Given the description of an element on the screen output the (x, y) to click on. 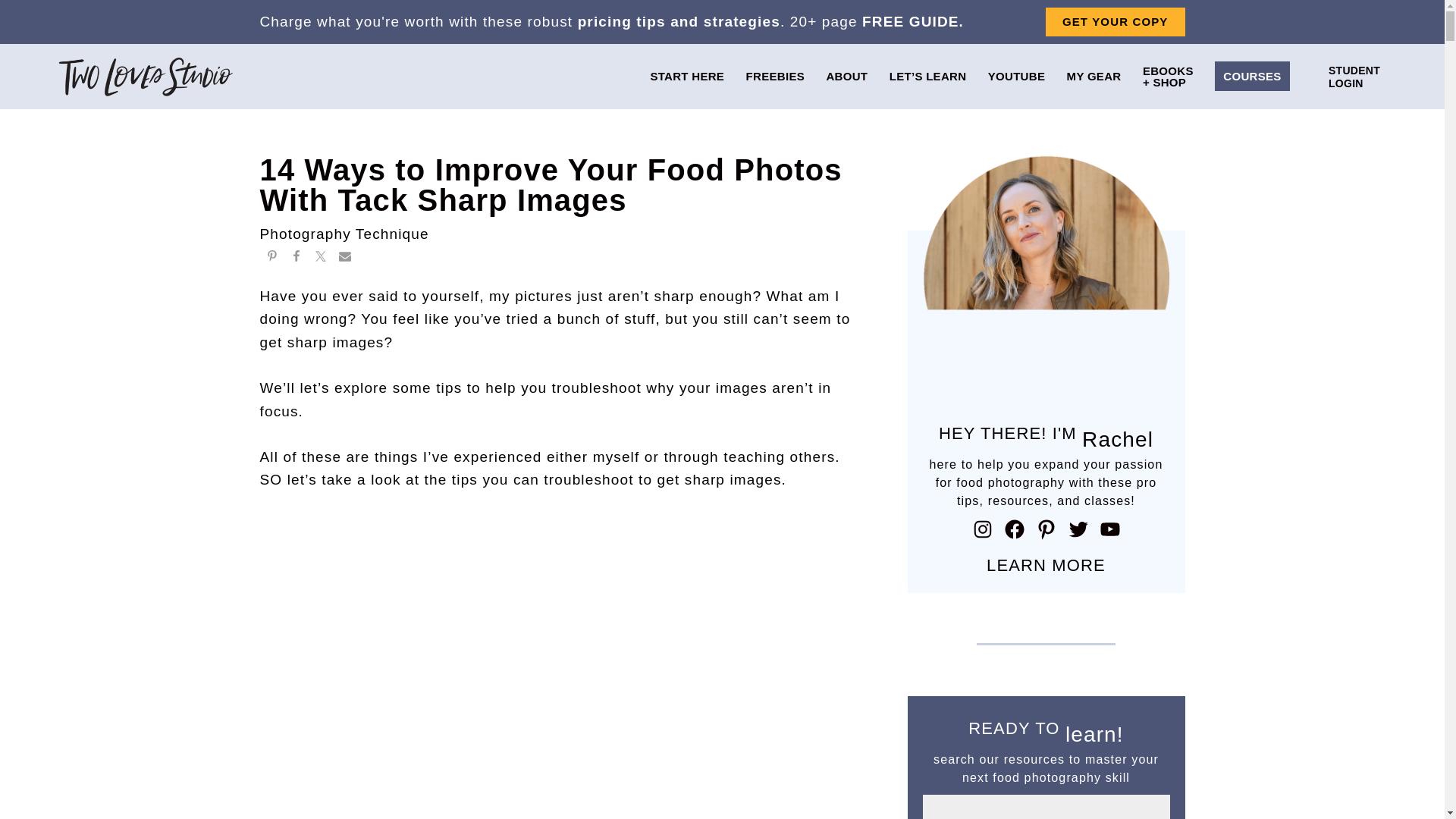
Share on Pinterest (271, 257)
START HERE (686, 75)
Share on Facebook (295, 257)
ABOUT (846, 75)
FREEBIES (775, 75)
Share on Twitter (319, 257)
Share via Email (343, 257)
GET YOUR COPY (1115, 21)
